Given the description of an element on the screen output the (x, y) to click on. 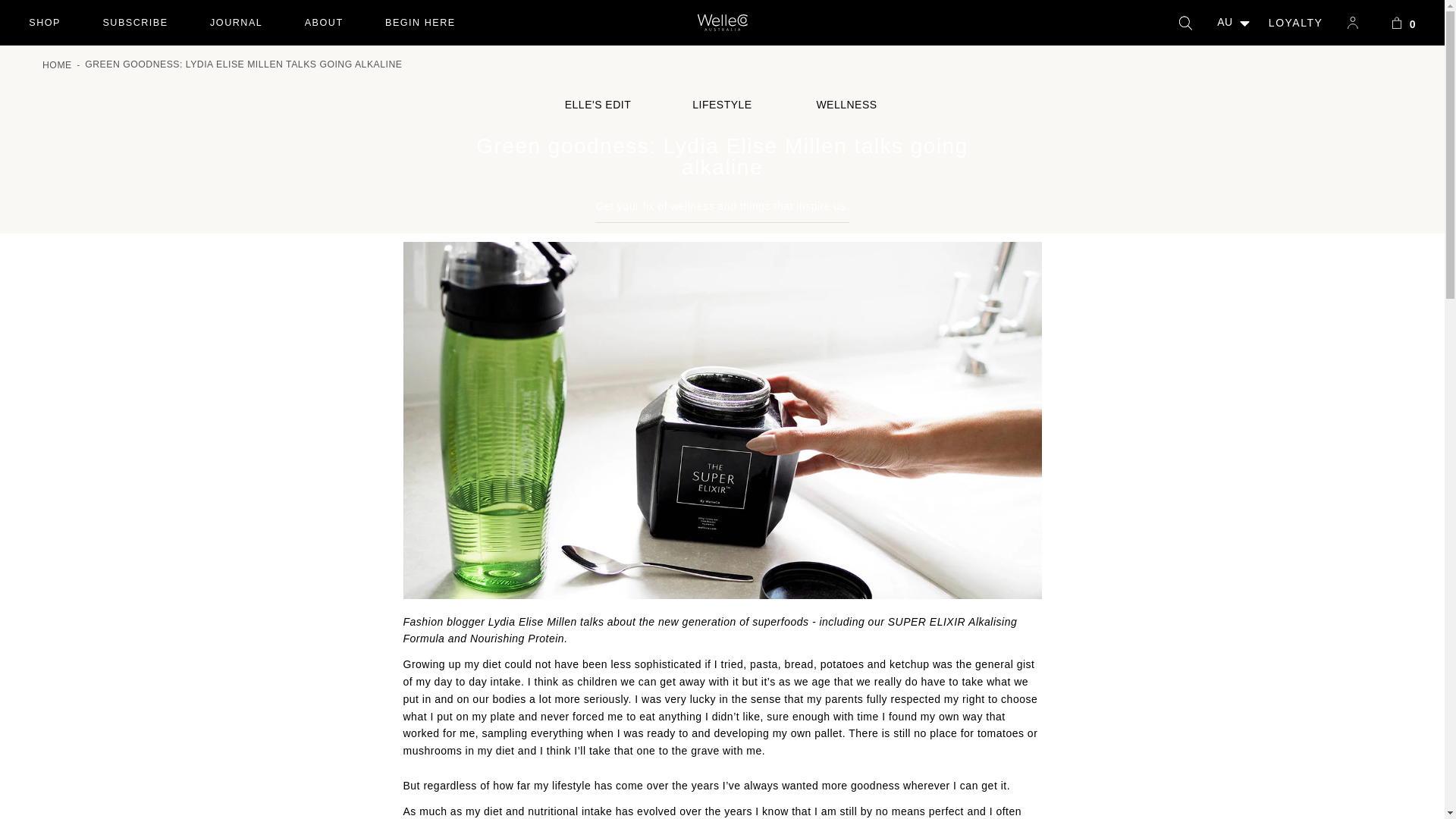
WelleCo Australia (722, 22)
SUBSCRIBE (135, 22)
AU (44, 22)
BEGIN HERE (235, 22)
LOYALTY (1402, 22)
